Given the description of an element on the screen output the (x, y) to click on. 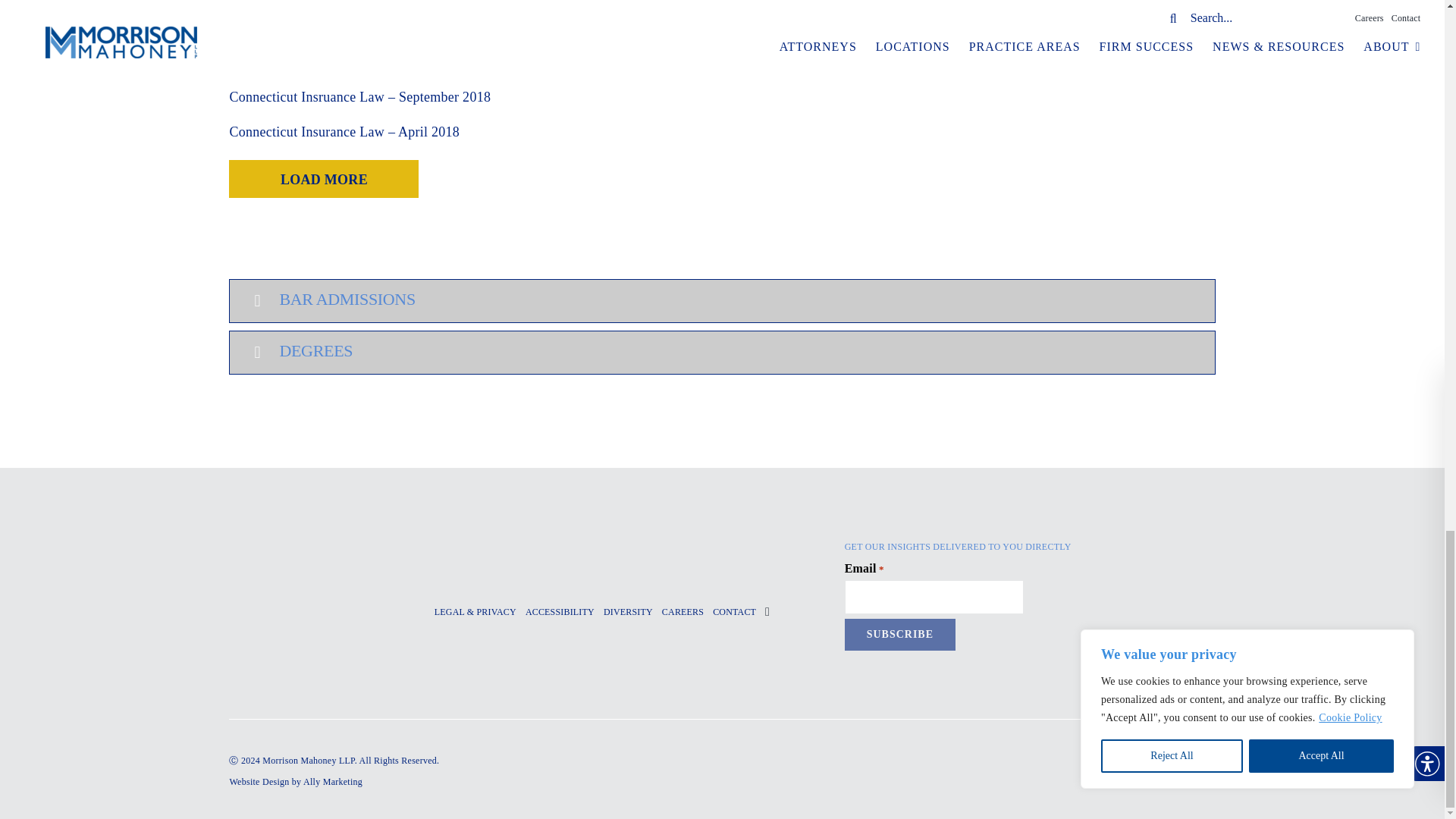
Subscribe (899, 635)
